Given the description of an element on the screen output the (x, y) to click on. 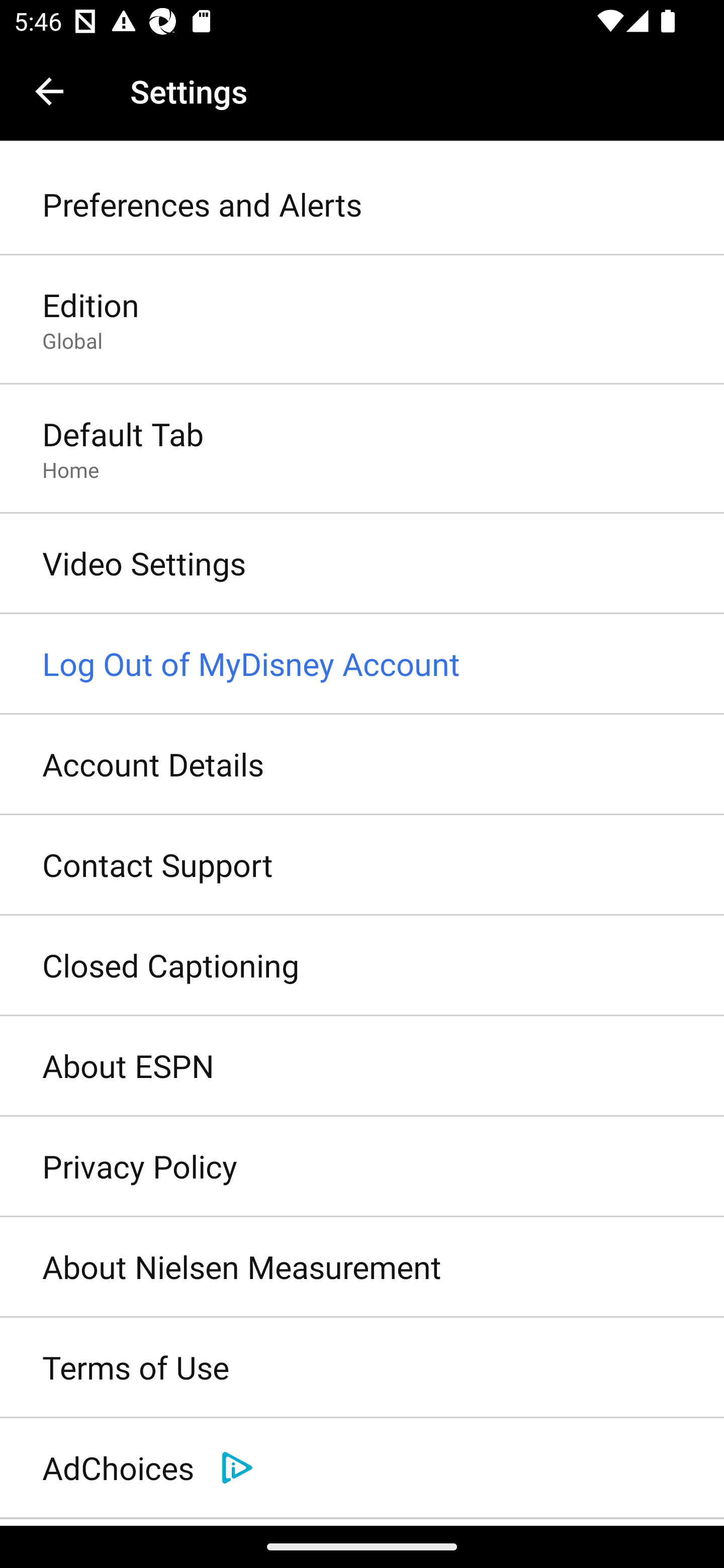
Navigate up (49, 91)
Preferences and Alerts (362, 205)
Edition Global (362, 320)
Default Tab Home (362, 449)
Video Settings (362, 564)
Log Out of MyDisney Account (362, 664)
Account Details (362, 765)
Contact Support (362, 865)
Closed Captioning (362, 965)
About ESPN (362, 1066)
Privacy Policy (362, 1167)
About Nielsen Measurement (362, 1267)
Terms of Use (362, 1368)
AdChoices (362, 1468)
